Given the description of an element on the screen output the (x, y) to click on. 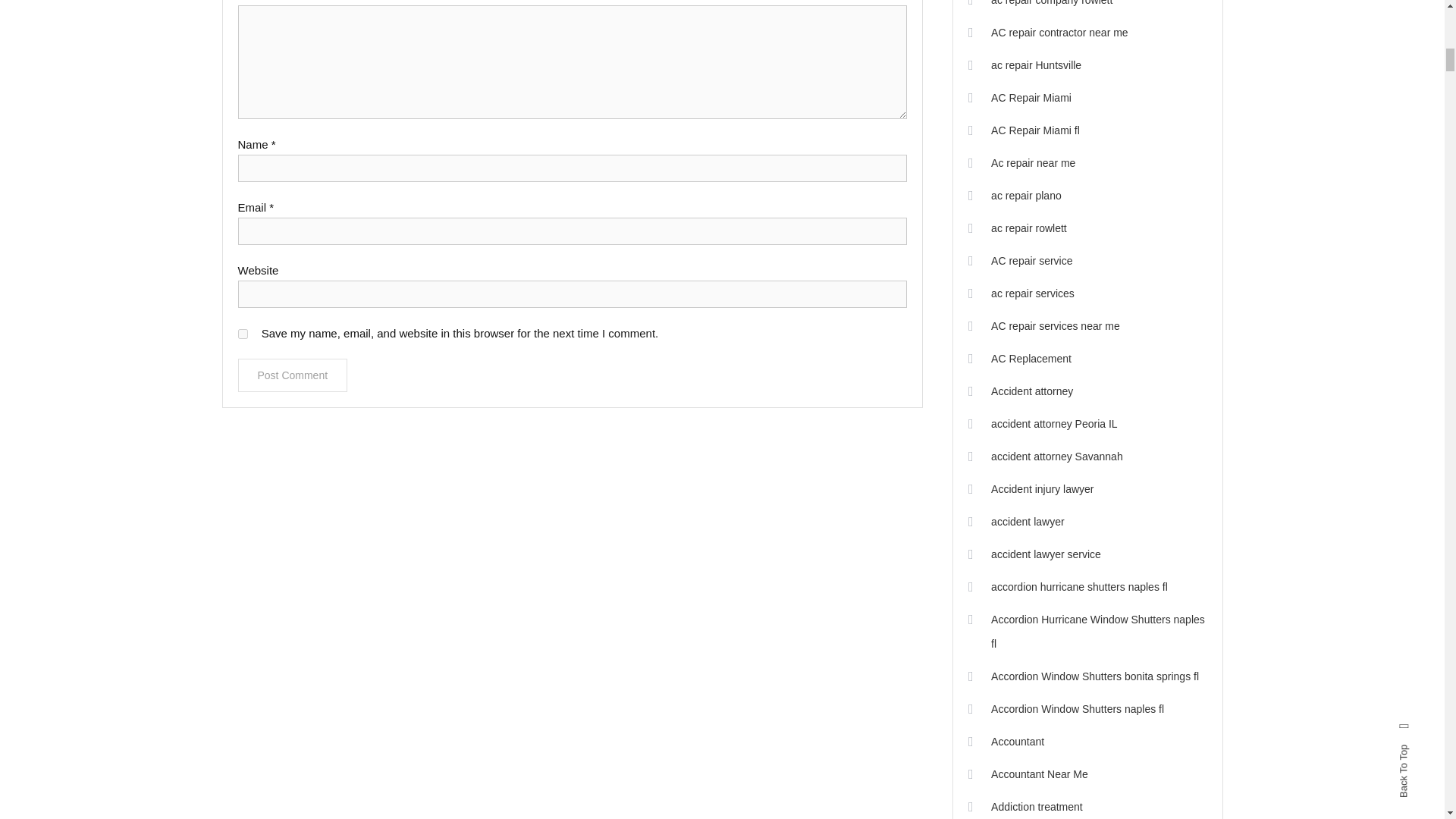
yes (242, 334)
Post Comment (292, 375)
